Given the description of an element on the screen output the (x, y) to click on. 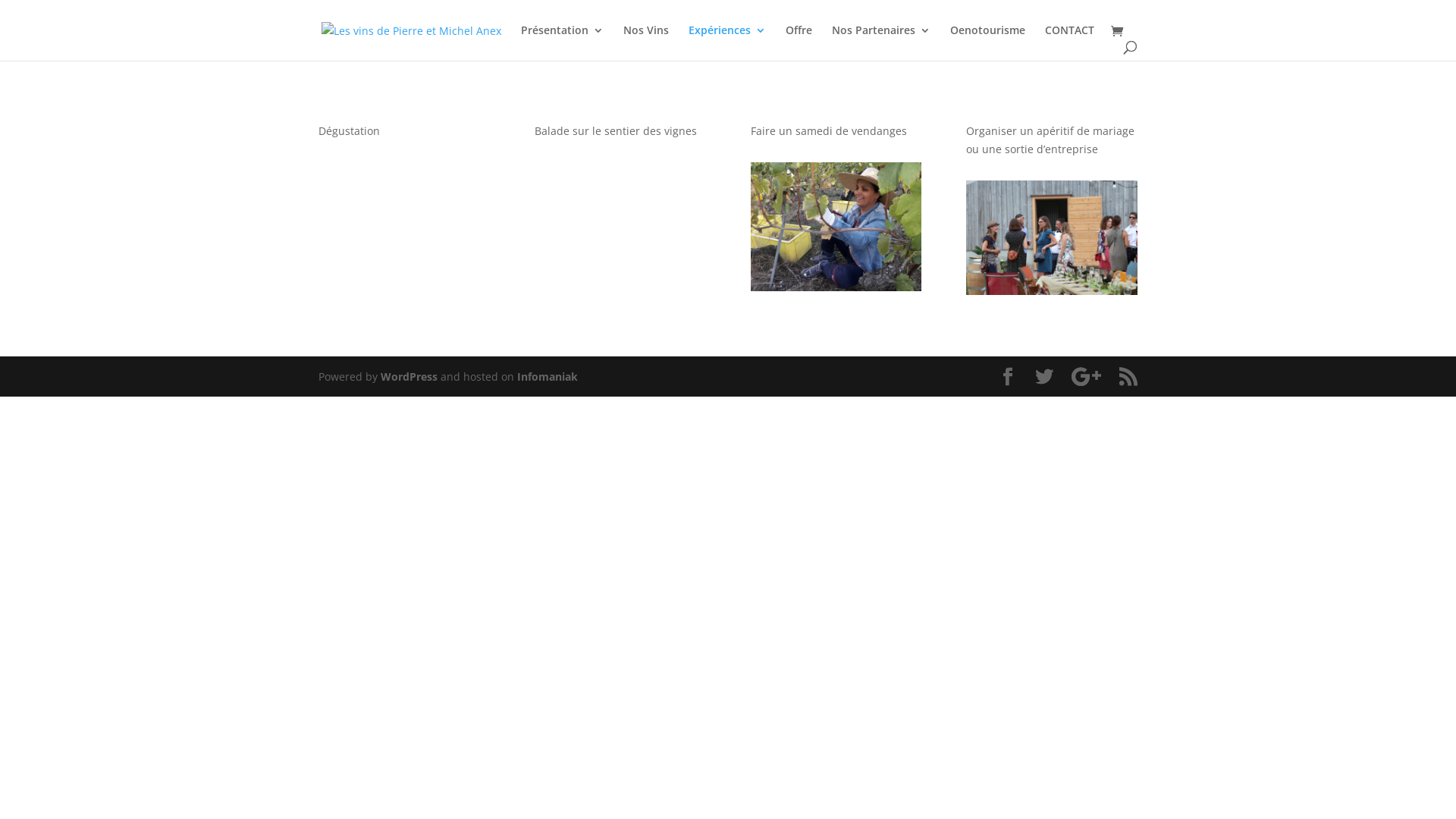
Nos Vins Element type: text (645, 42)
WordPress Element type: text (408, 376)
Oenotourisme Element type: text (987, 42)
CONTACT Element type: text (1069, 42)
Infomaniak Element type: text (547, 376)
Offre Element type: text (798, 42)
Nos Partenaires Element type: text (880, 42)
